Given the description of an element on the screen output the (x, y) to click on. 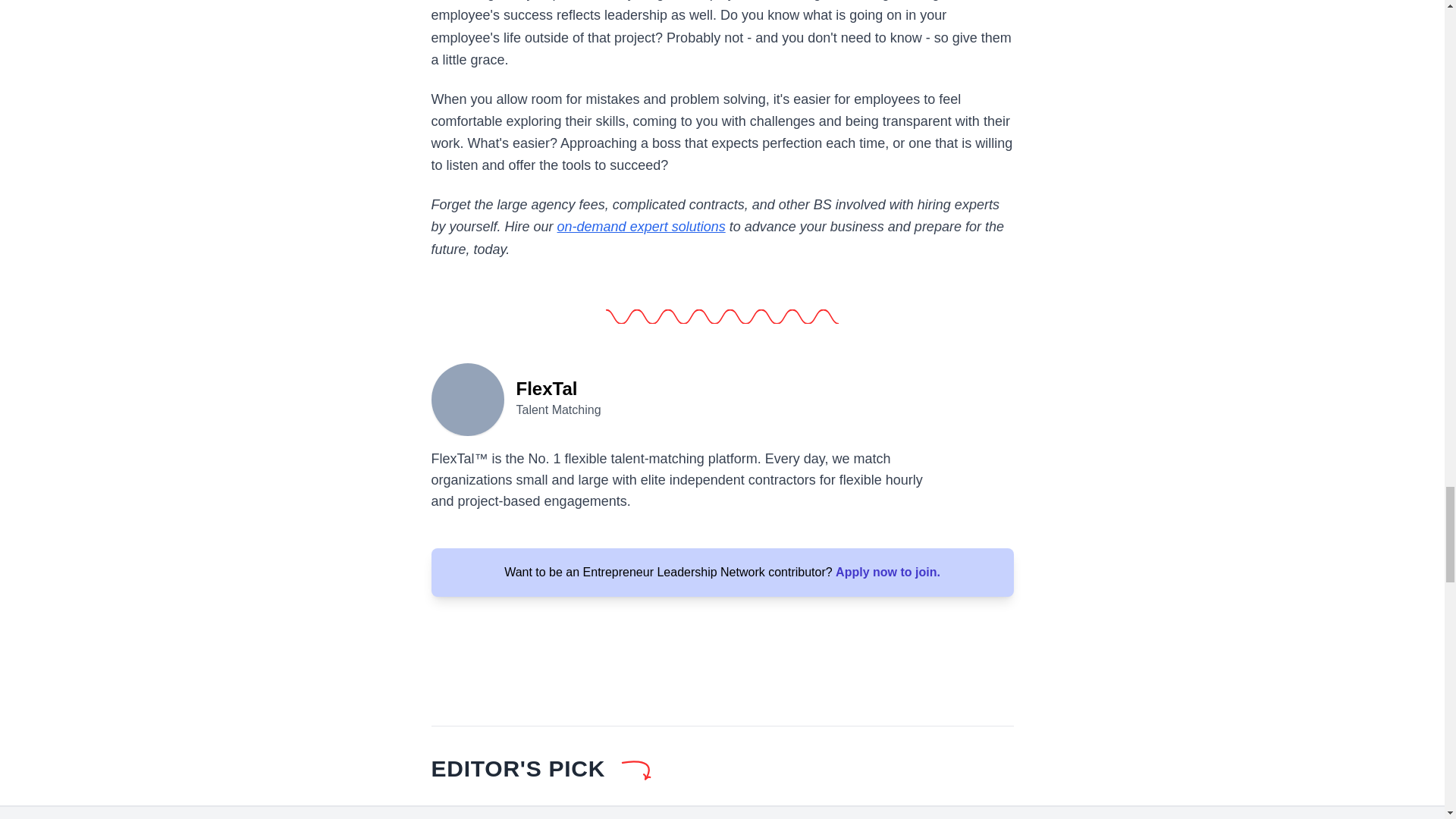
FlexTal (466, 397)
